Given the description of an element on the screen output the (x, y) to click on. 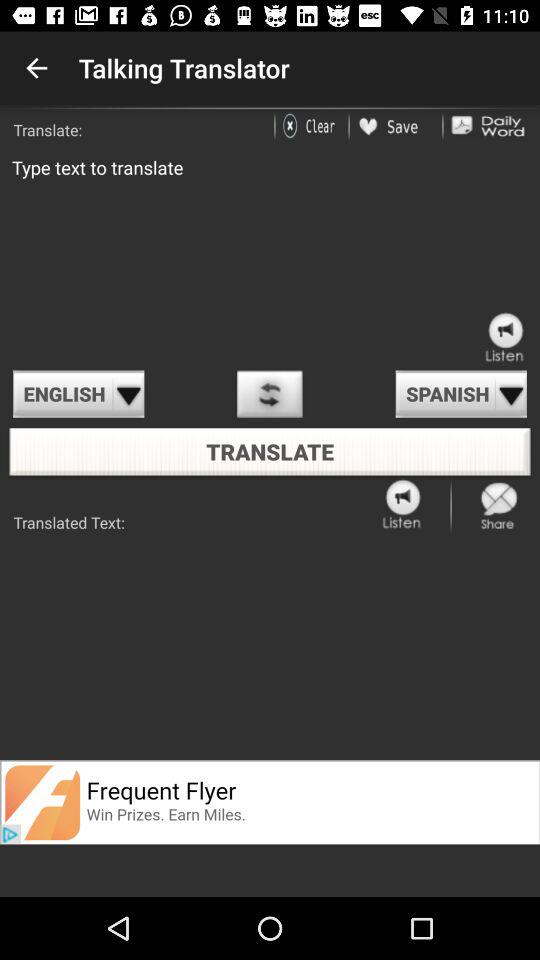
clear the article (311, 125)
